Given the description of an element on the screen output the (x, y) to click on. 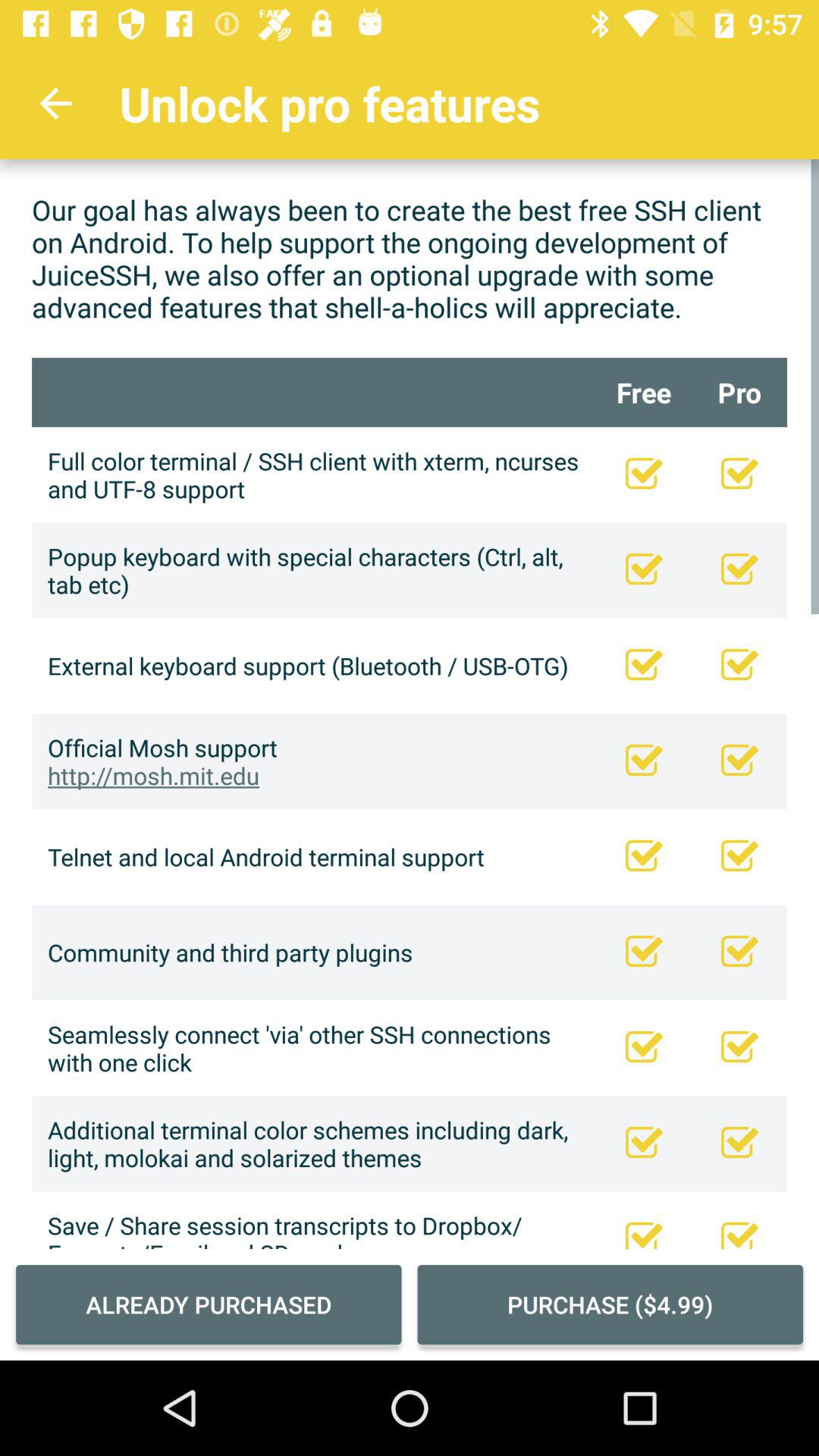
tap the icon at the top left corner (55, 103)
